Given the description of an element on the screen output the (x, y) to click on. 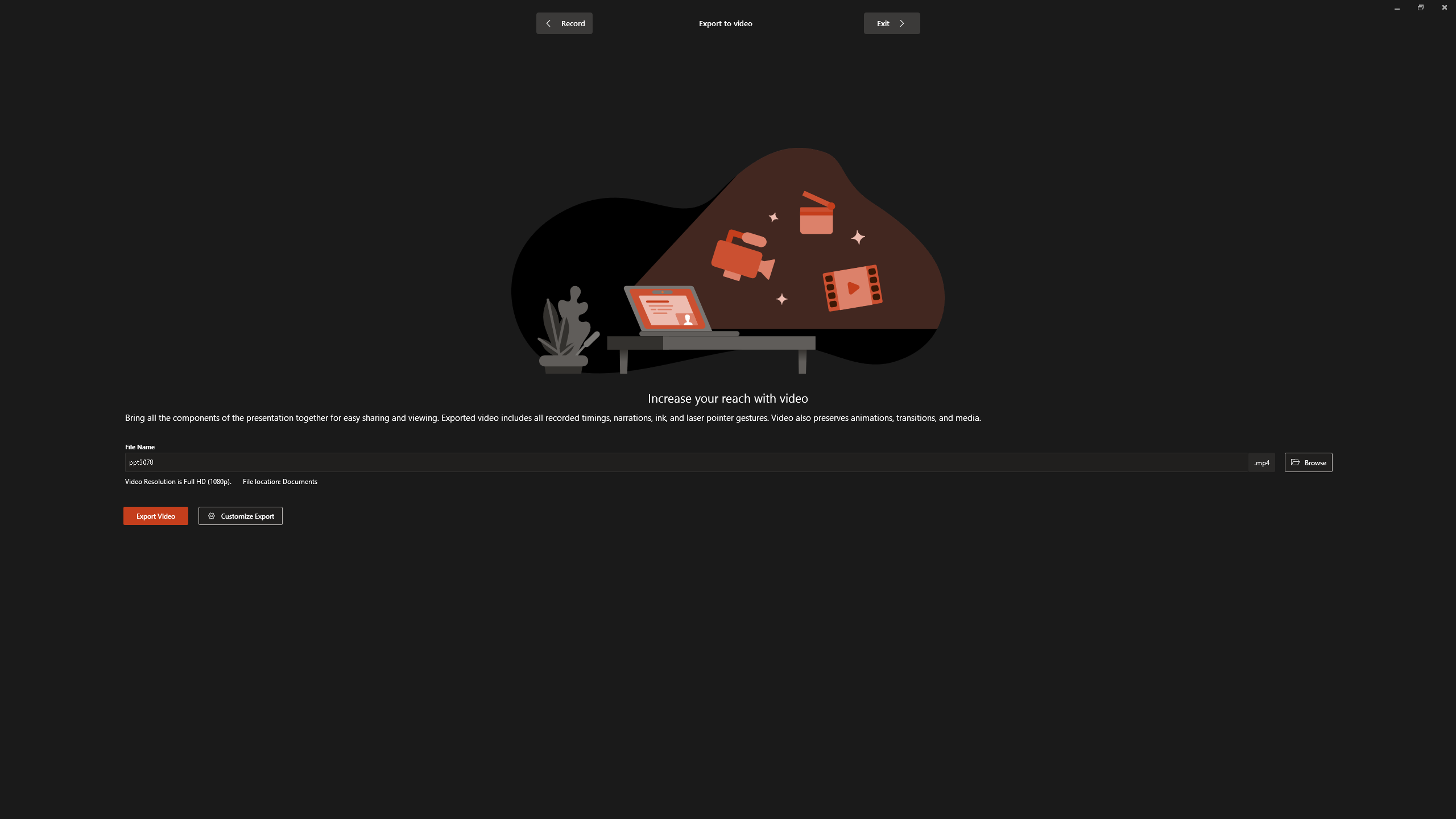
Filename (687, 464)
